Given the description of an element on the screen output the (x, y) to click on. 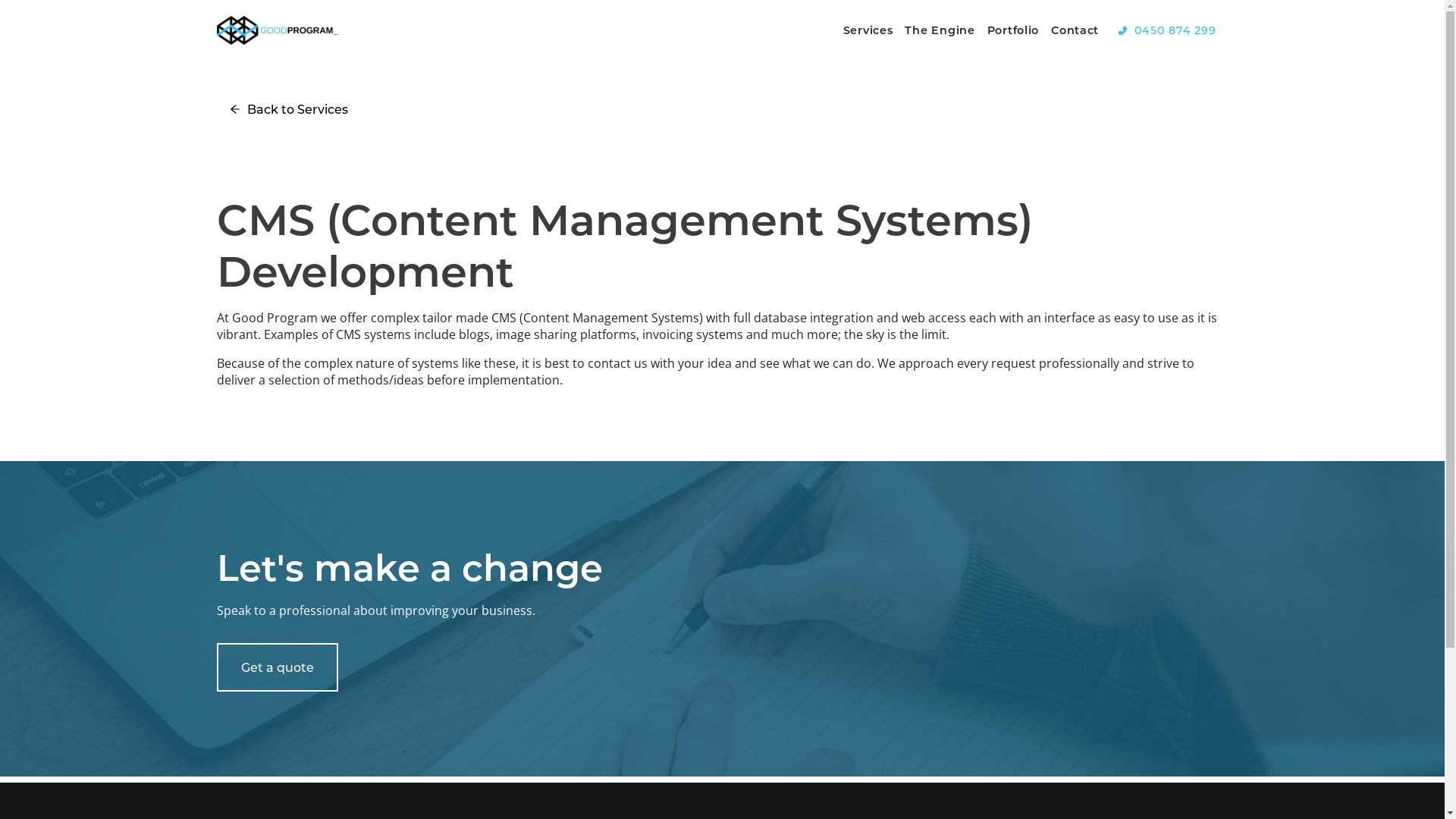
Services Element type: text (868, 30)
Get a quote Element type: text (277, 662)
The Engine Element type: text (939, 30)
Contact Element type: text (1074, 30)
Get a quote Element type: text (277, 667)
  Back to Services Element type: text (289, 109)
0450 874 299 Element type: text (1165, 30)
Portfolio Element type: text (1012, 30)
  Back to Services Element type: text (289, 104)
